Given the description of an element on the screen output the (x, y) to click on. 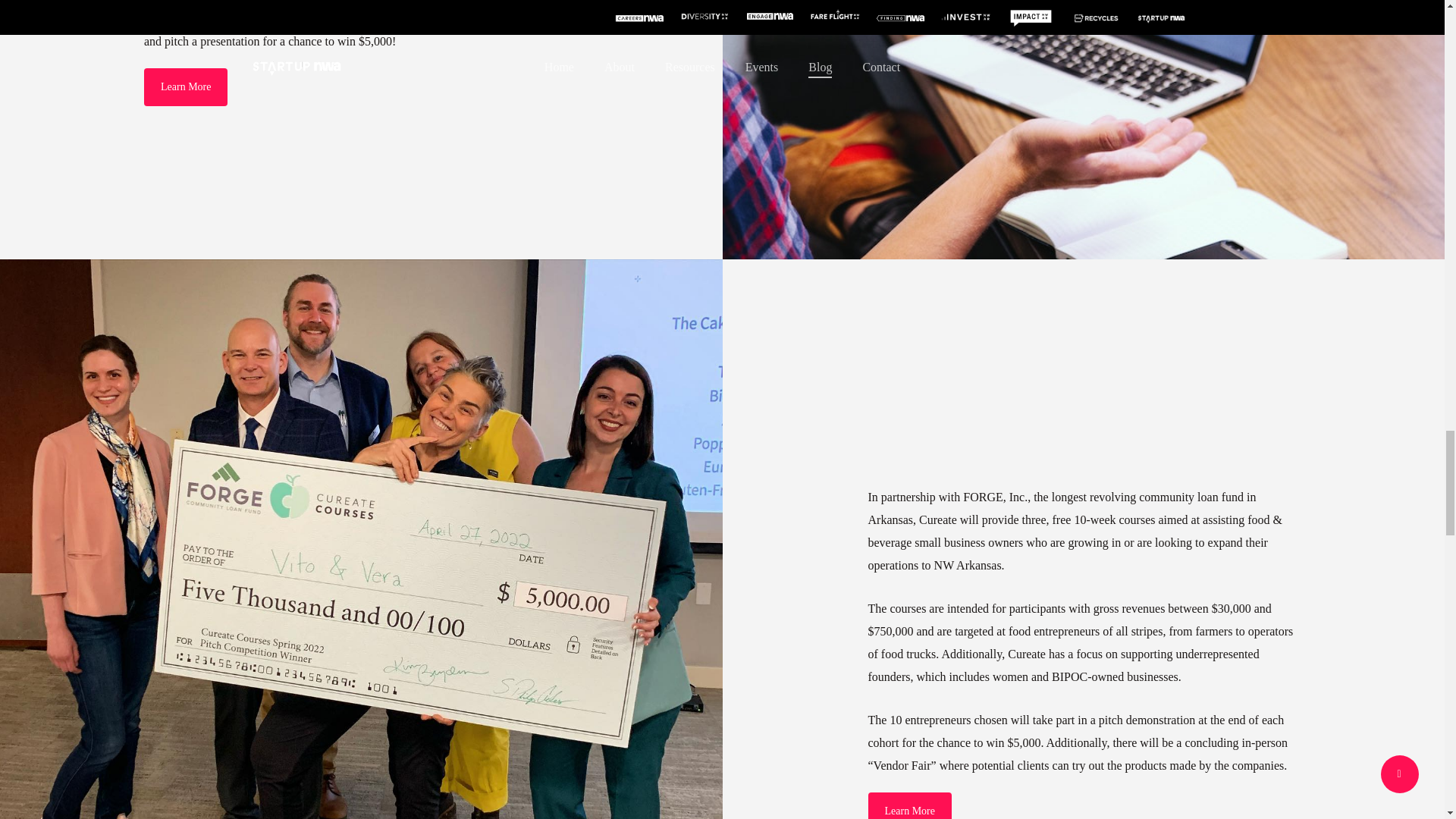
Learn More (908, 805)
Learn More (185, 86)
